Given the description of an element on the screen output the (x, y) to click on. 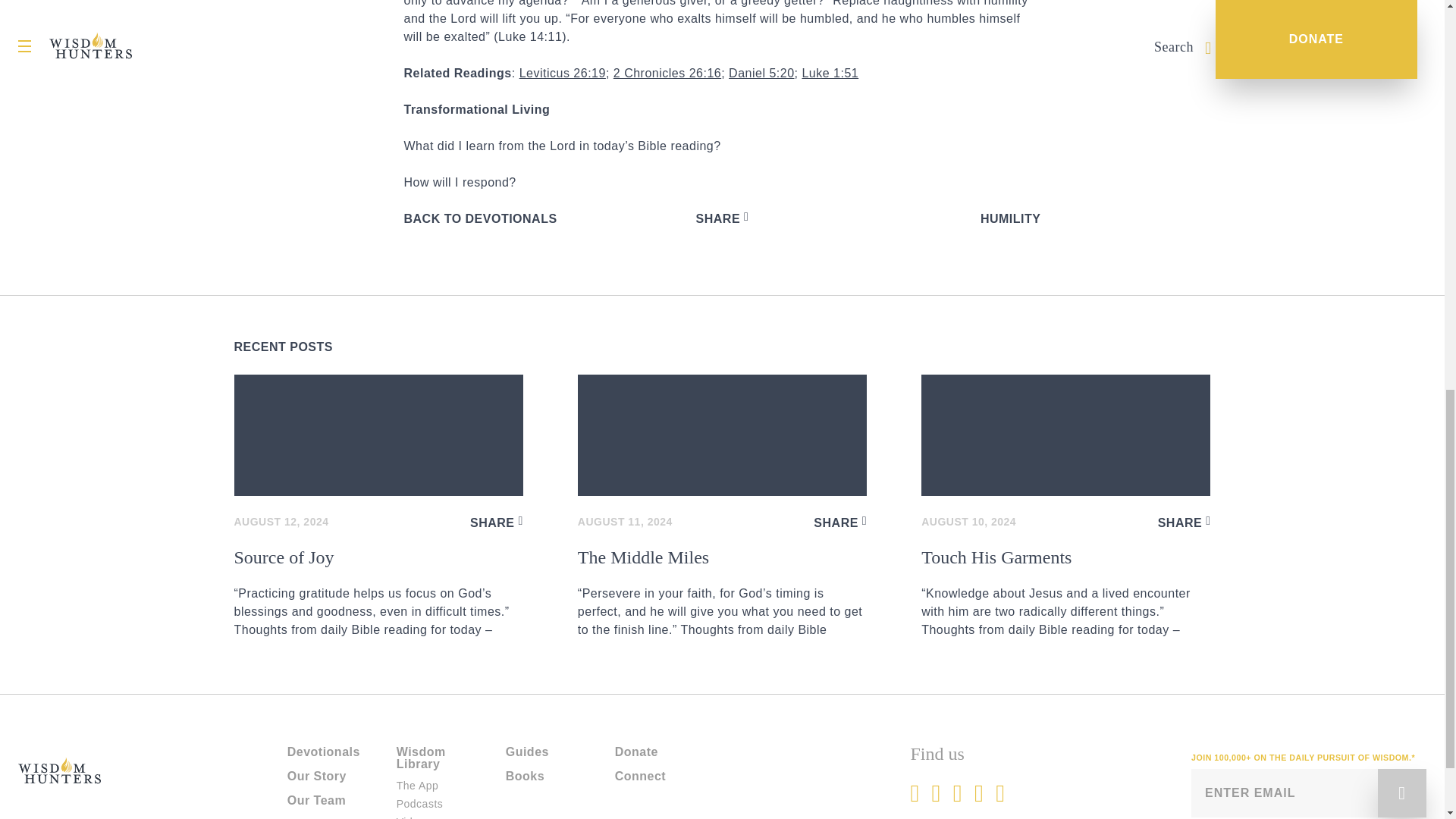
Send (1401, 793)
Permalink to: The Middle Miles (722, 592)
SHARE (496, 521)
Daniel 5:20 (761, 72)
Leviticus 26:19 (562, 72)
Luke 1:51 (830, 72)
2 Chronicles 26:16 (666, 72)
Permalink to: Source of Joy (377, 435)
SHARE (722, 218)
SHARE (839, 521)
